Given the description of an element on the screen output the (x, y) to click on. 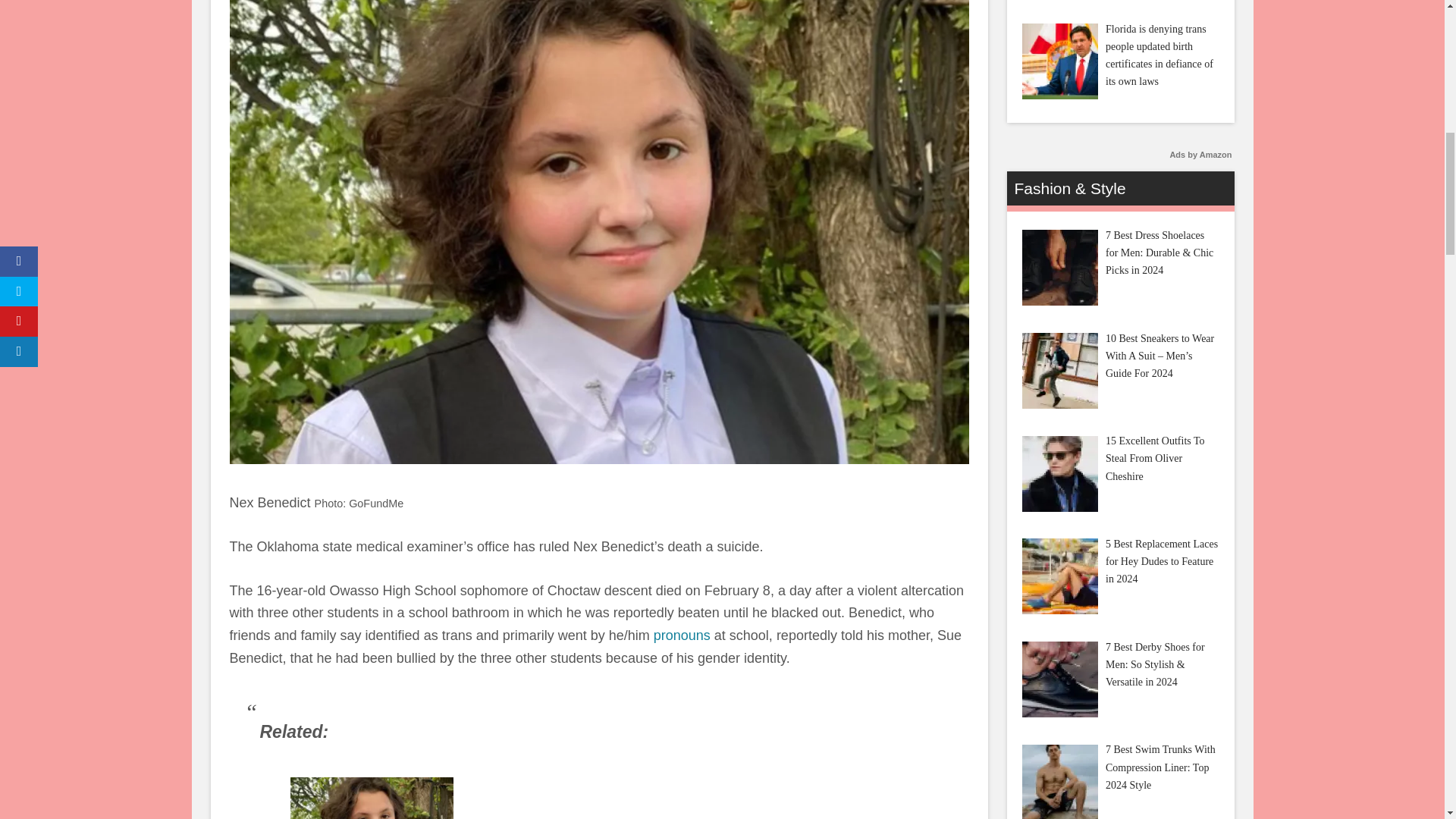
15 Excellent Outfits To Steal From Oliver Cheshire (1059, 473)
5 Best Replacement Laces for Hey Dudes to Feature in 2024 (1059, 576)
